Given the description of an element on the screen output the (x, y) to click on. 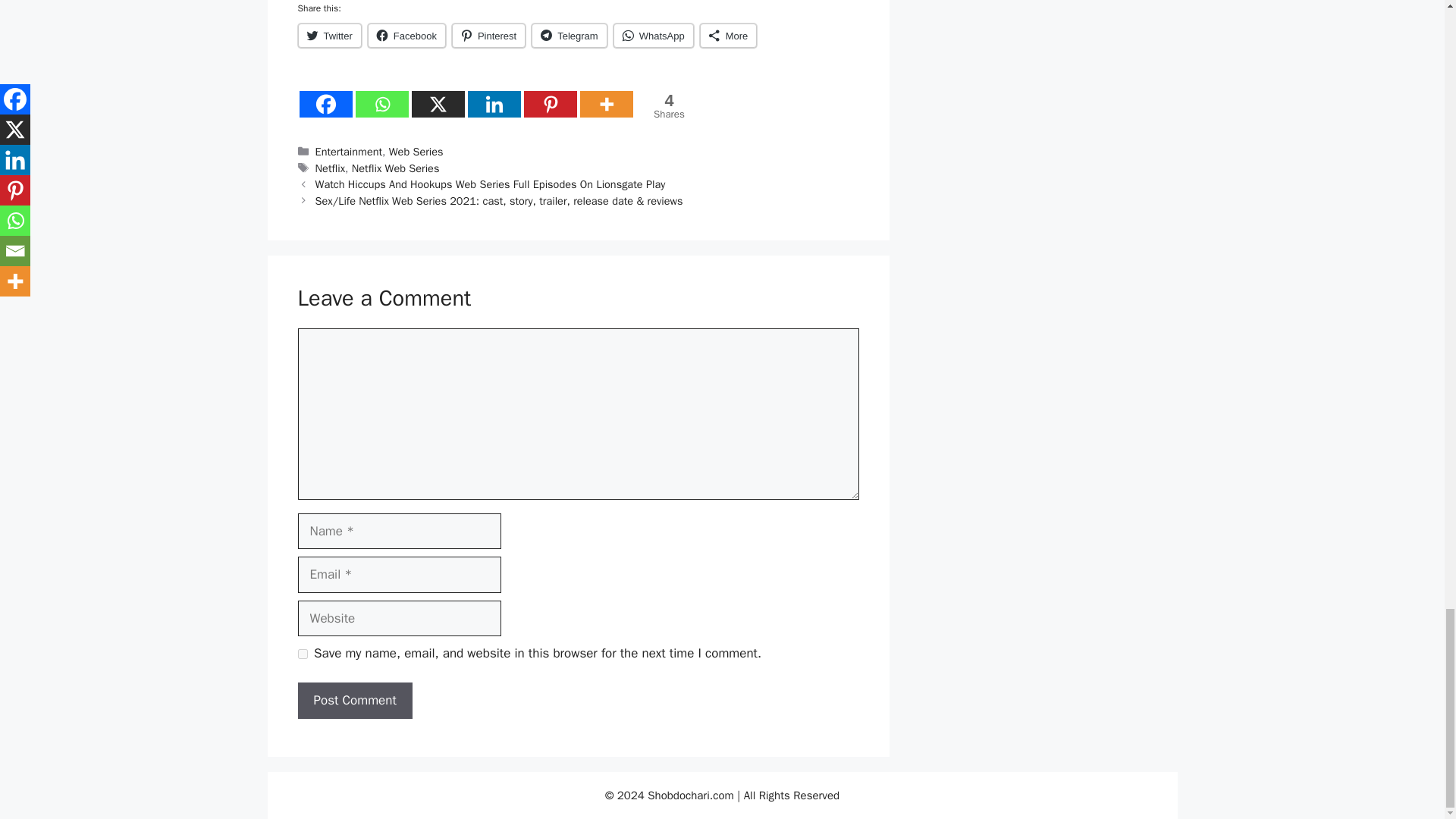
Facebook (406, 35)
Click to share on Twitter (329, 35)
More (728, 35)
yes (302, 654)
Telegram (569, 35)
Pinterest (665, 105)
Twitter (488, 35)
Post Comment (329, 35)
WhatsApp (354, 700)
